Given the description of an element on the screen output the (x, y) to click on. 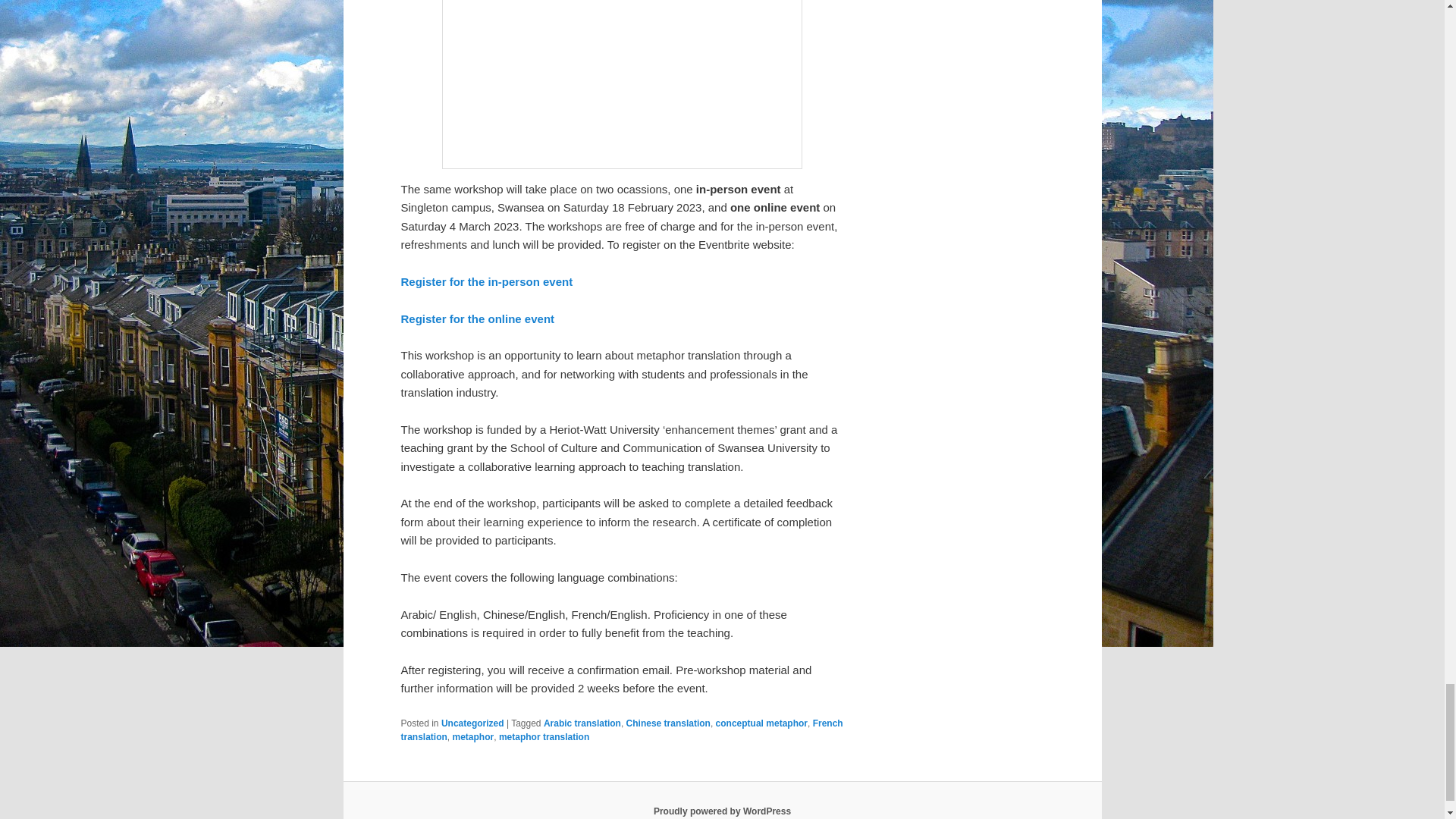
Semantic Personal Publishing Platform (721, 810)
